Given the description of an element on the screen output the (x, y) to click on. 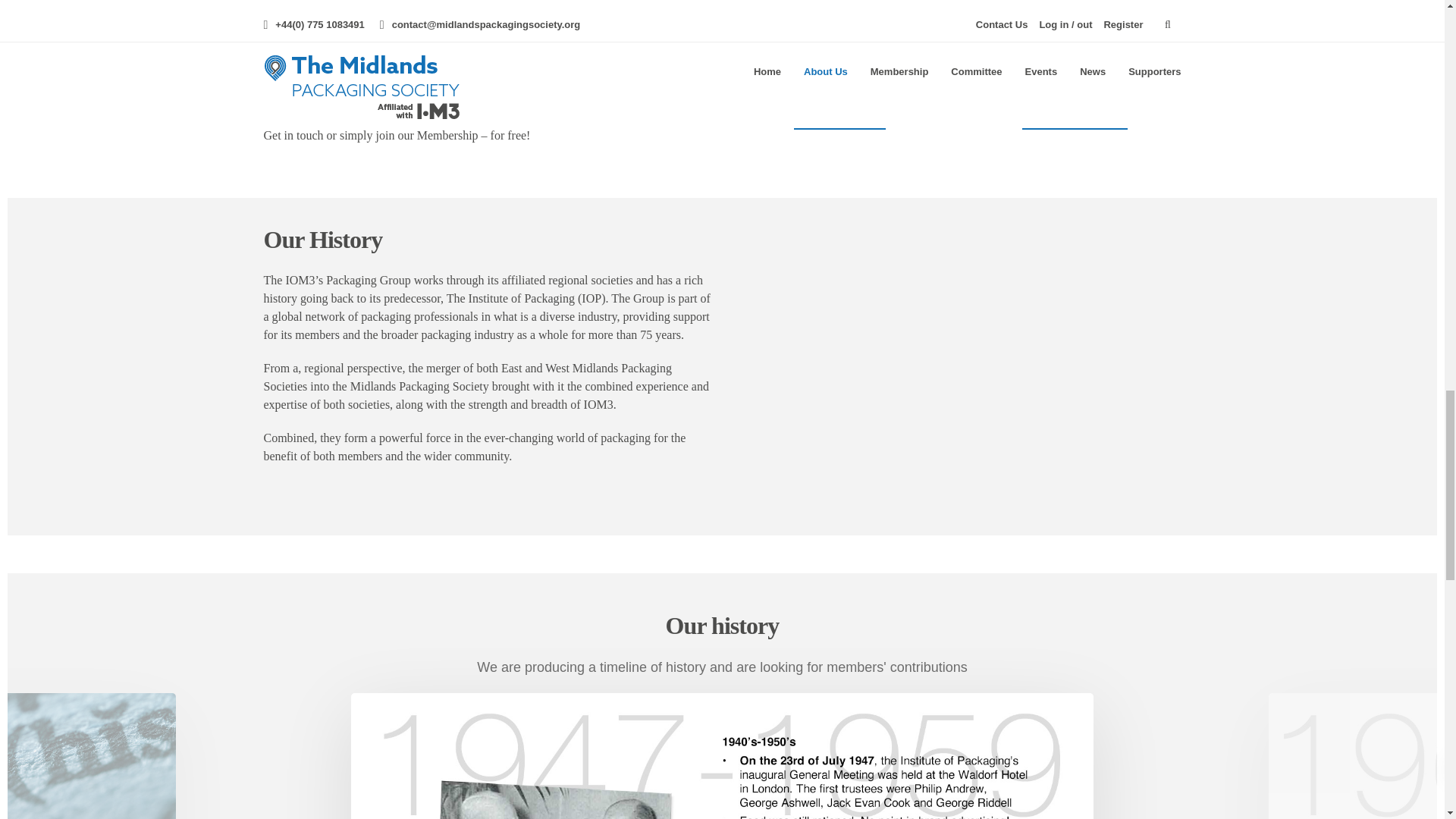
JOIN HERE (839, 107)
contribute (88, 755)
Membership (839, 107)
1940-1950 (722, 755)
Membership (1074, 107)
LEARN MORE (1074, 107)
